Given the description of an element on the screen output the (x, y) to click on. 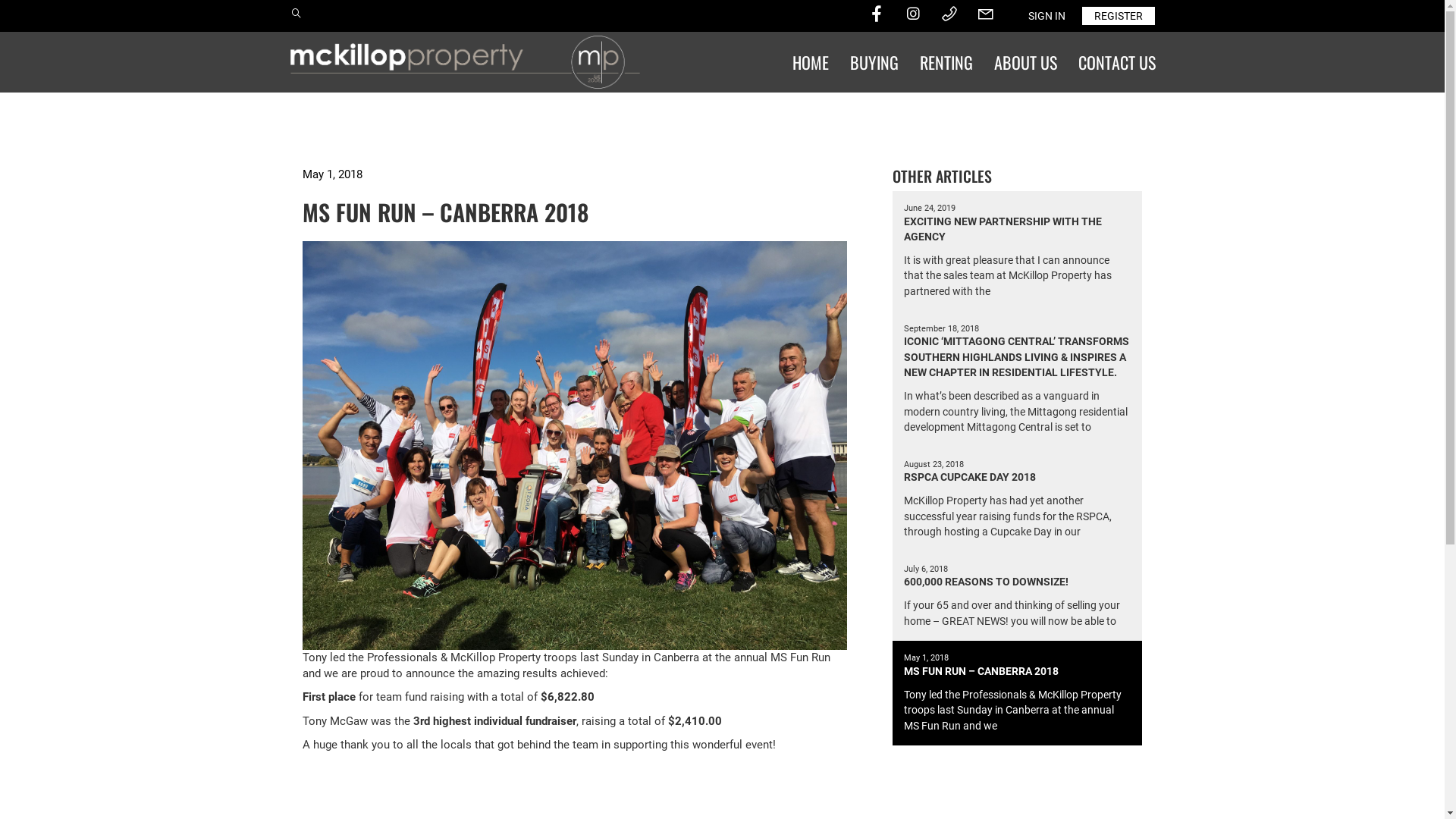
HOME Element type: text (809, 61)
May 1, 2018 Element type: text (331, 174)
CONTACT US Element type: text (1116, 61)
REGISTER Element type: text (1117, 15)
BUYING Element type: text (873, 61)
SIGN IN Element type: text (1046, 15)
RENTING Element type: text (945, 61)
ABOUT US Element type: text (1024, 61)
